Given the description of an element on the screen output the (x, y) to click on. 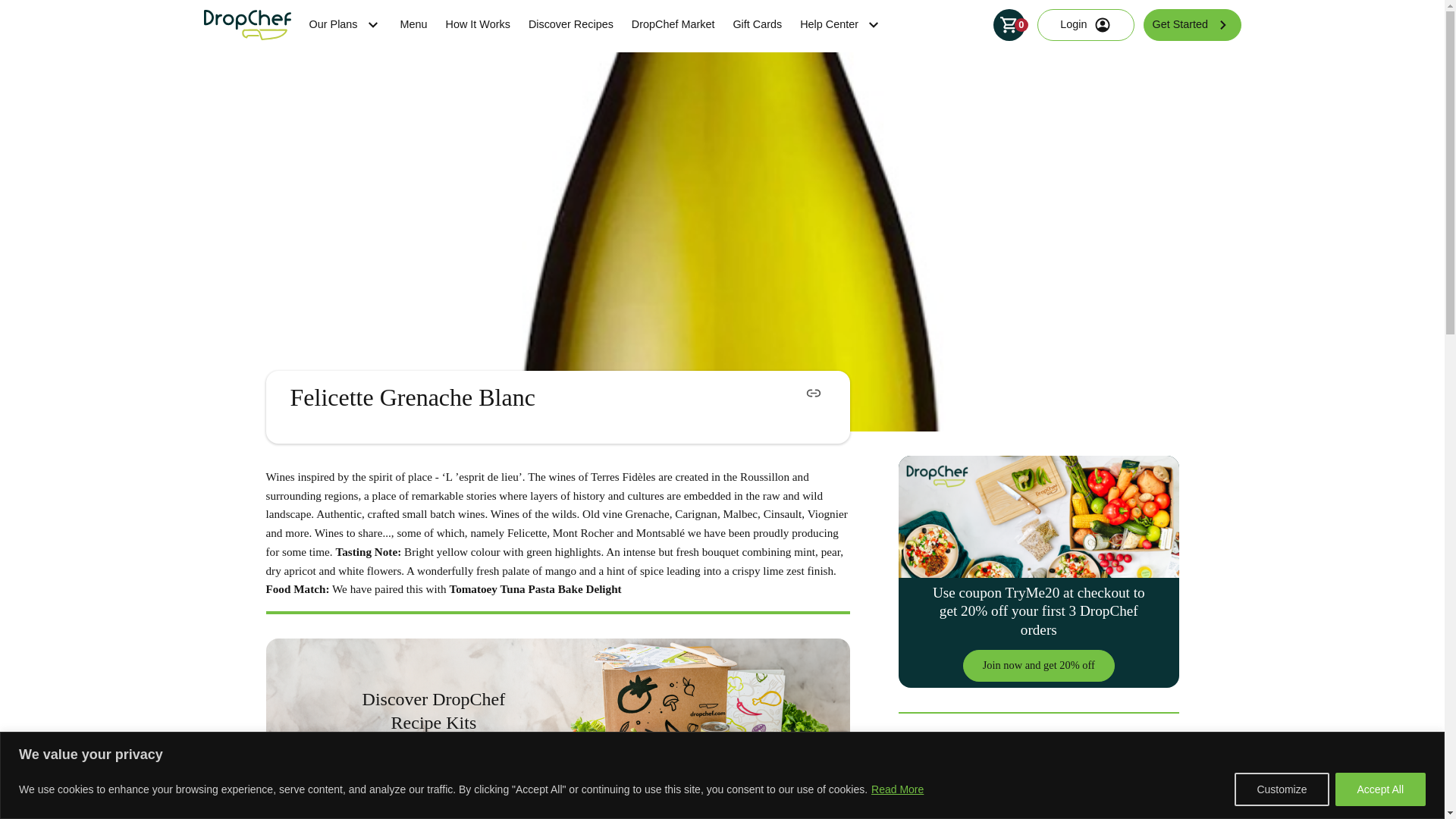
0 (1008, 24)
Customize (1280, 788)
Read More (897, 789)
Accept All (1380, 788)
Discover Recipes (570, 24)
DropChef Market (672, 24)
Login (1085, 24)
Get started (433, 762)
How It Works (478, 24)
Menu (414, 24)
Get Started (1191, 24)
Gift Cards (756, 24)
Help Center (840, 24)
View your shopping cart (1008, 24)
Our Plans (344, 24)
